Given the description of an element on the screen output the (x, y) to click on. 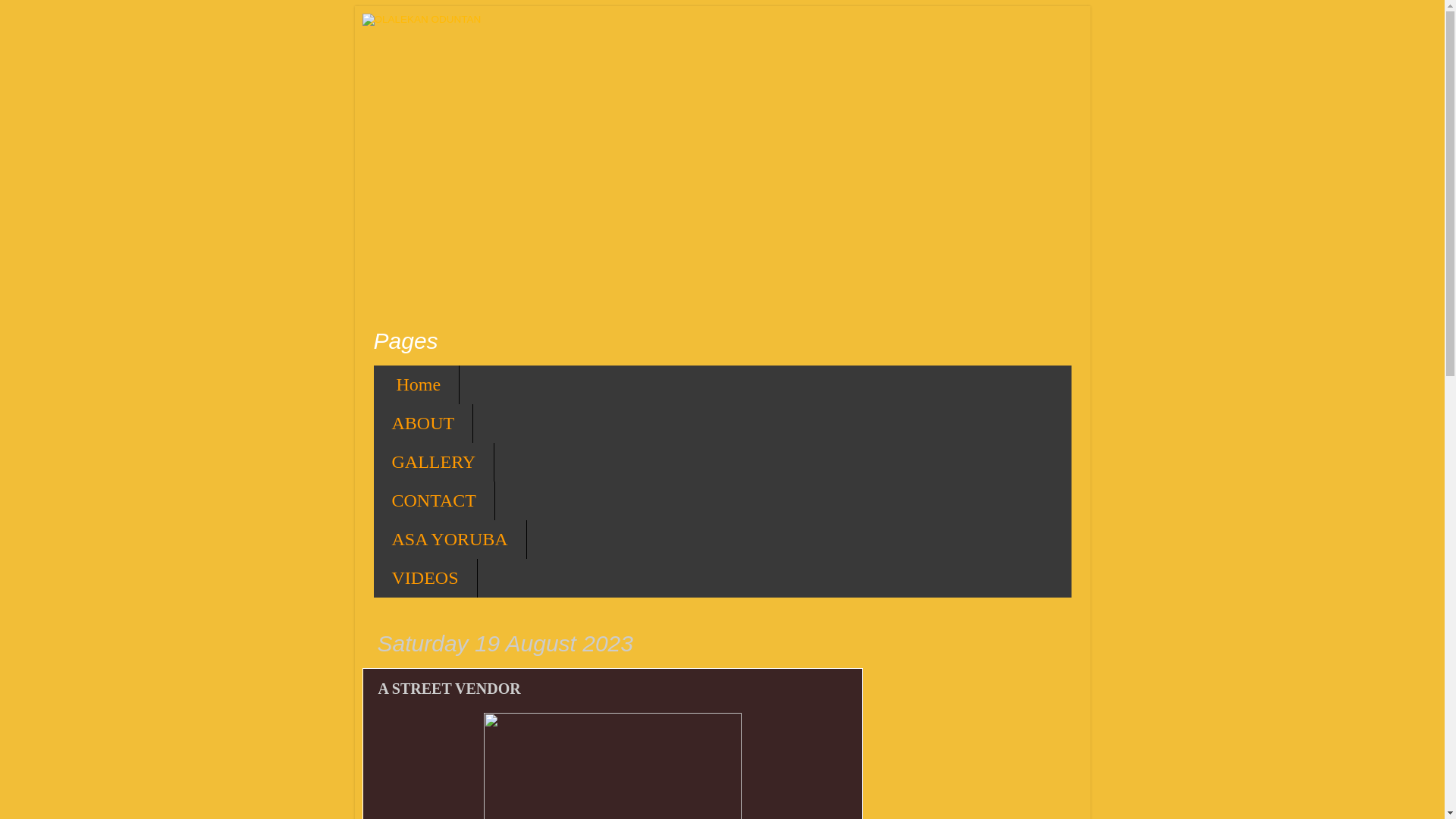
ABOUT (422, 423)
Home (416, 384)
CONTACT (433, 500)
GALLERY (433, 462)
VIDEOS (424, 577)
ASA YORUBA (448, 539)
